Given the description of an element on the screen output the (x, y) to click on. 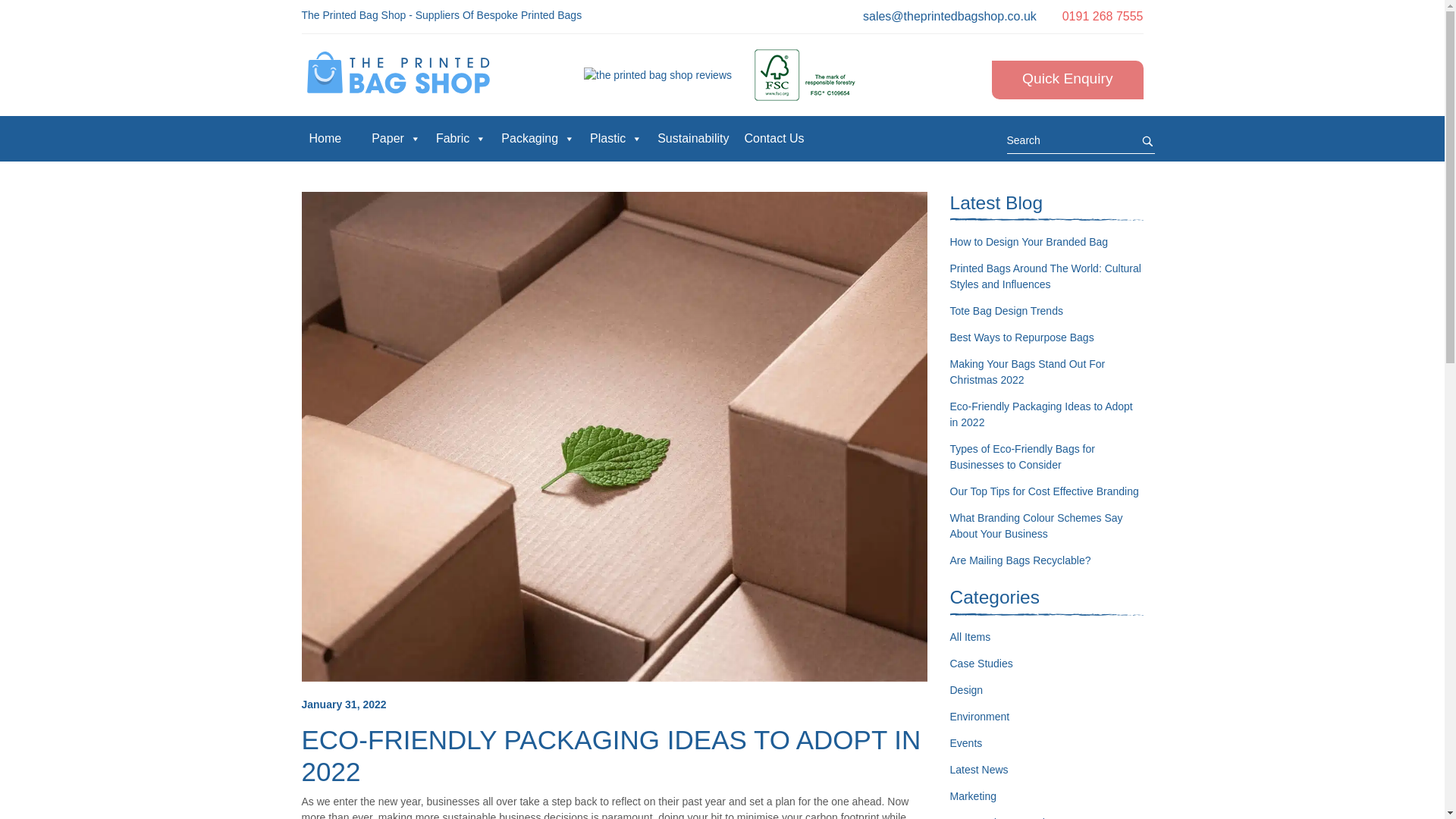
Fabric (460, 138)
Paper (396, 138)
Packaging (537, 138)
Home (325, 138)
Sustainability (692, 138)
Quick Enquiry (1066, 79)
Contact Us (773, 138)
Plastic (615, 138)
0191 268 7555 (1102, 15)
